Given the description of an element on the screen output the (x, y) to click on. 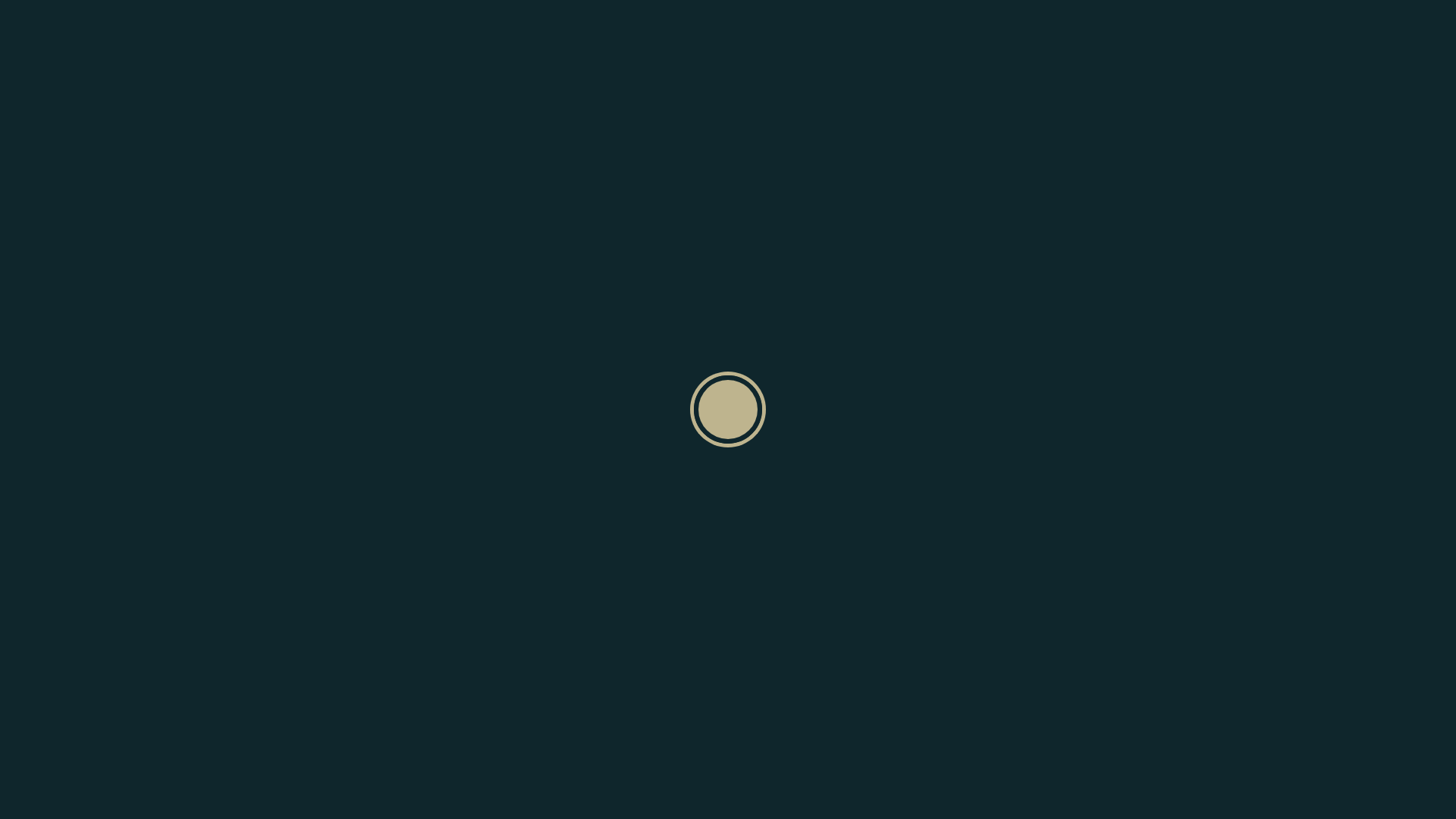
Emilie Defernez Element type: text (1290, 104)
linkedin.com/cloosquentin Element type: text (1233, 120)
Envoyer Element type: text (538, 194)
Visiter le site (beta) Element type: text (1212, 102)
fb.co/cloosquentin Element type: text (1210, 161)
